Given the description of an element on the screen output the (x, y) to click on. 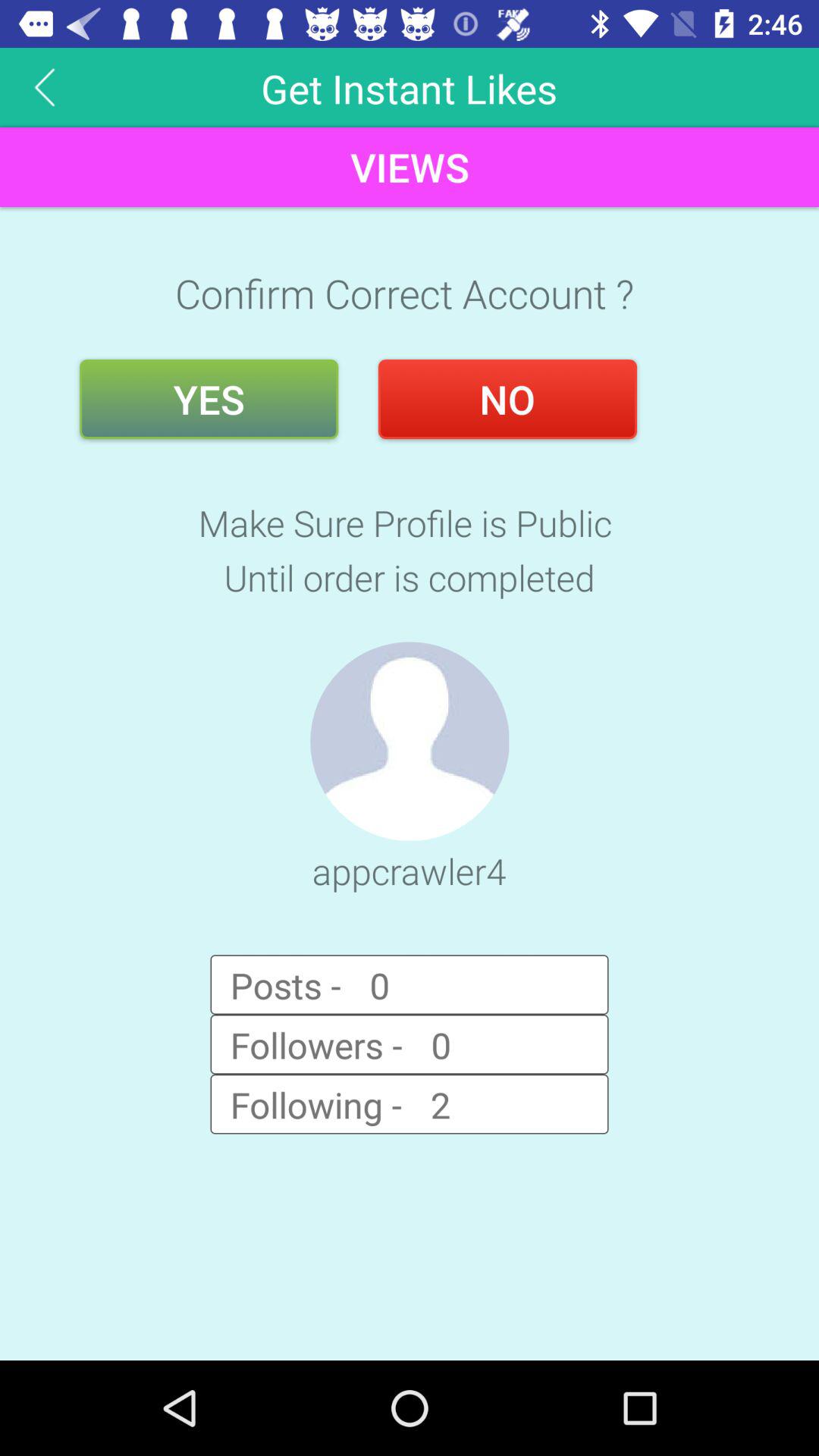
turn on the views (409, 167)
